Given the description of an element on the screen output the (x, y) to click on. 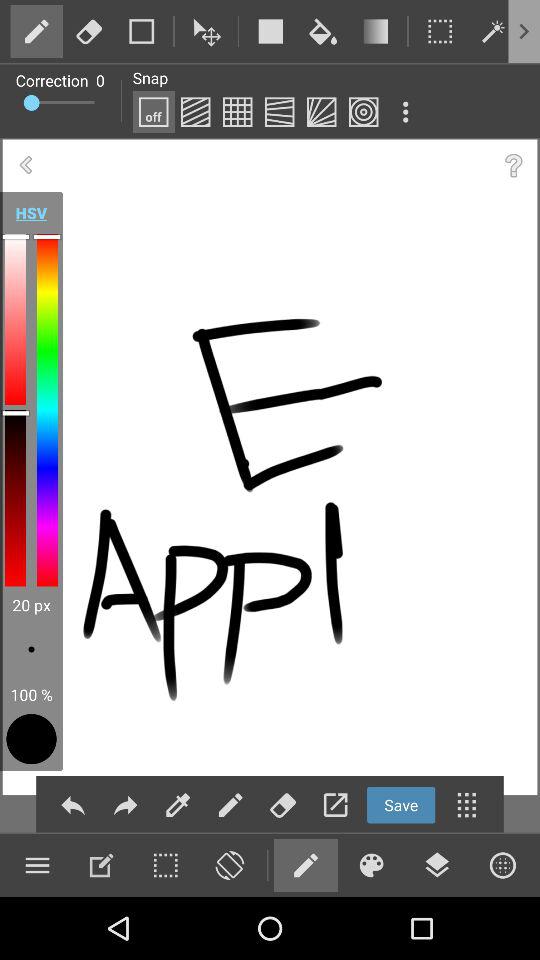
undo previous action (72, 804)
